Given the description of an element on the screen output the (x, y) to click on. 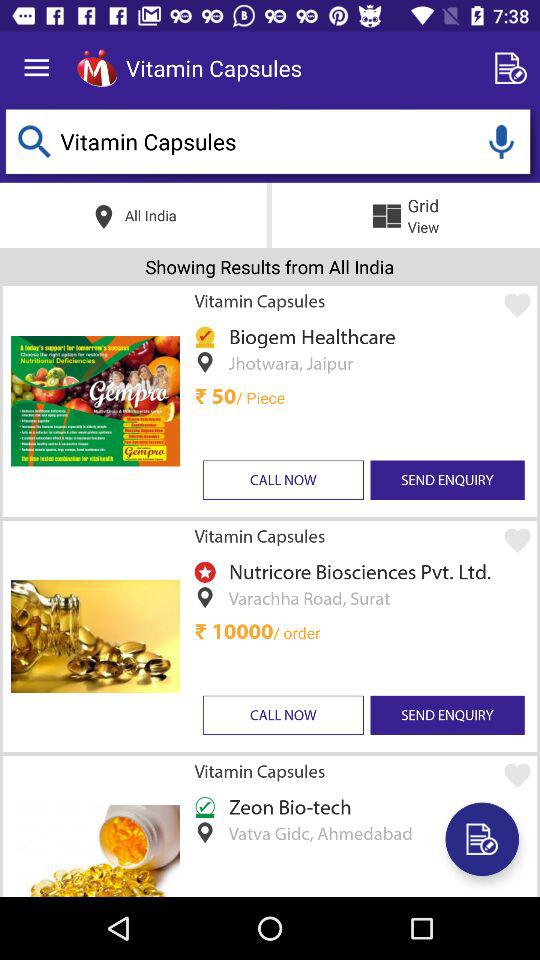
click the item to the left of the vitamin capsules item (96, 67)
